Given the description of an element on the screen output the (x, y) to click on. 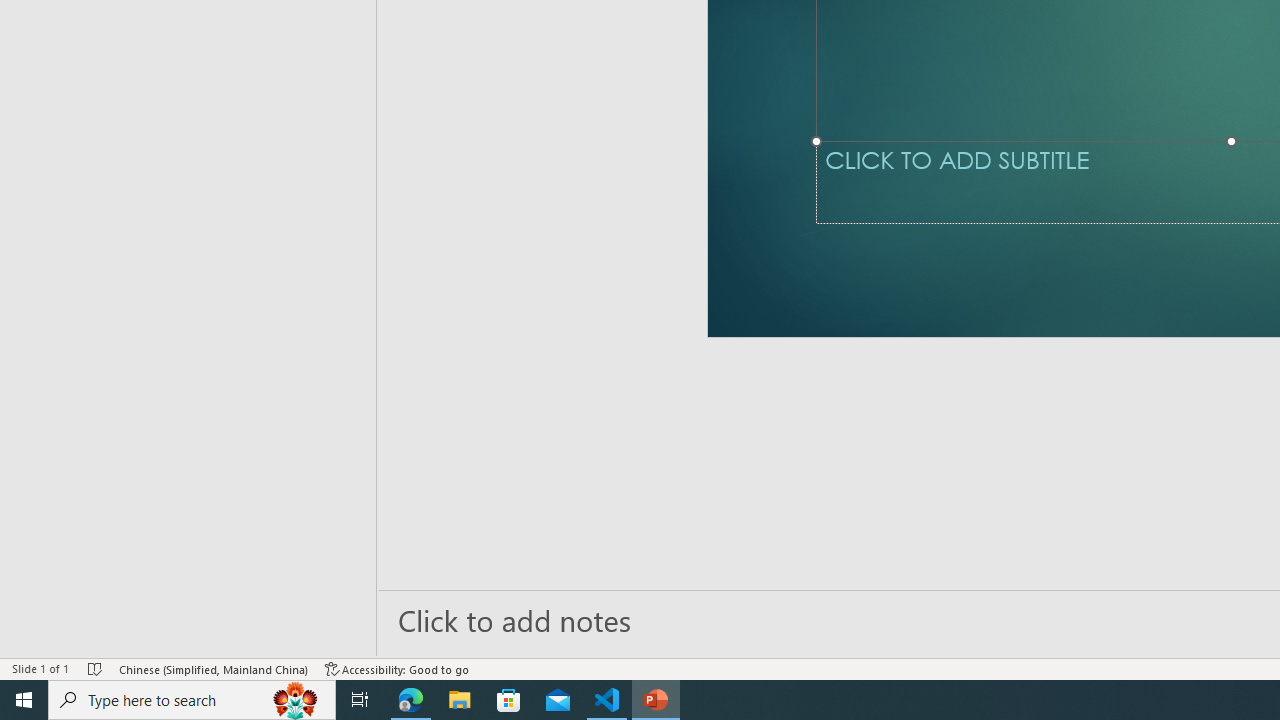
Accessibility Checker Accessibility: Good to go (397, 668)
